Given the description of an element on the screen output the (x, y) to click on. 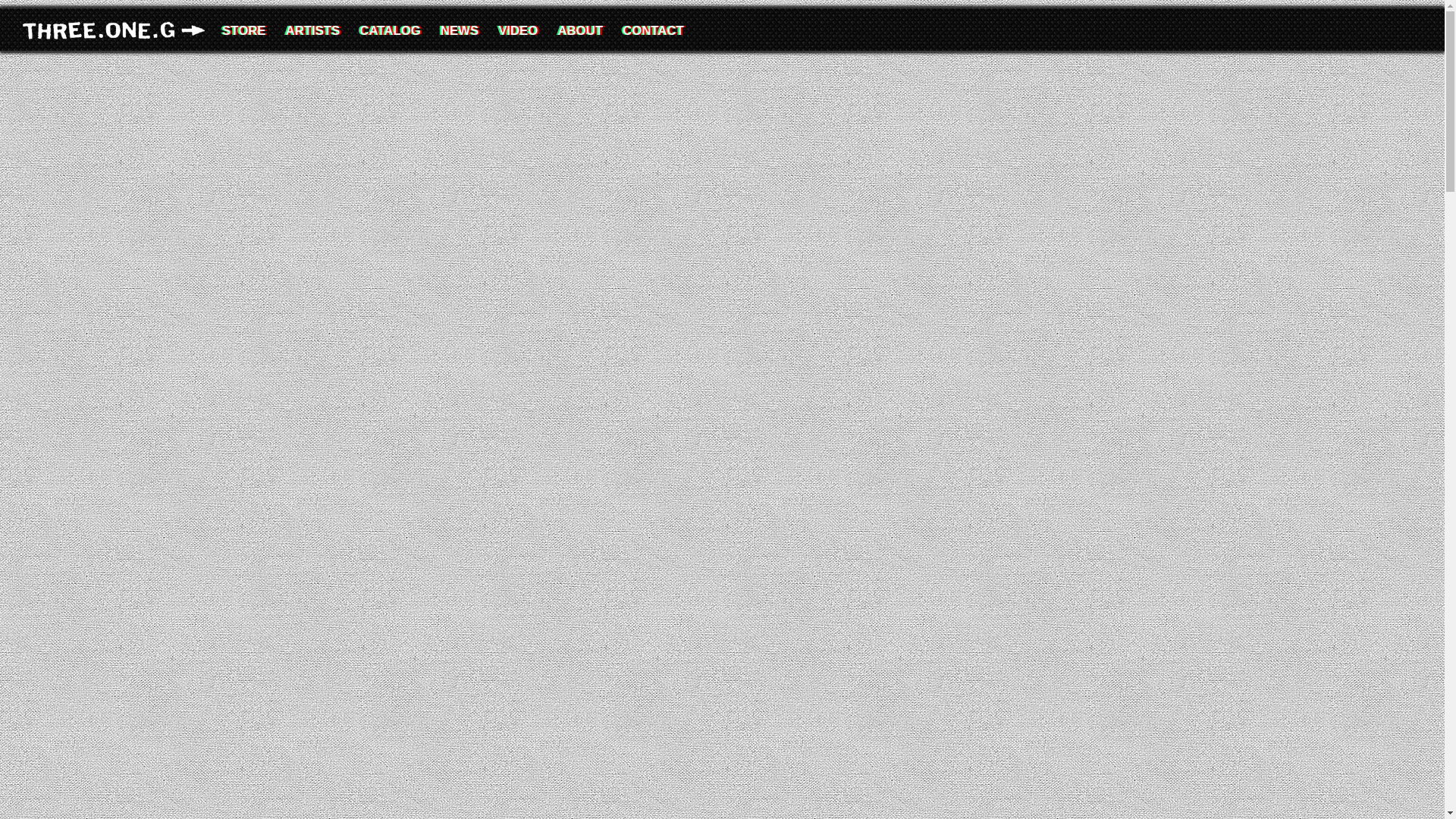
CATALOG (389, 29)
NEWS (458, 29)
CONTACT (653, 29)
STORE (244, 29)
VIDEO (517, 29)
ARTISTS (313, 29)
Three One G (117, 30)
ABOUT (579, 29)
